Given the description of an element on the screen output the (x, y) to click on. 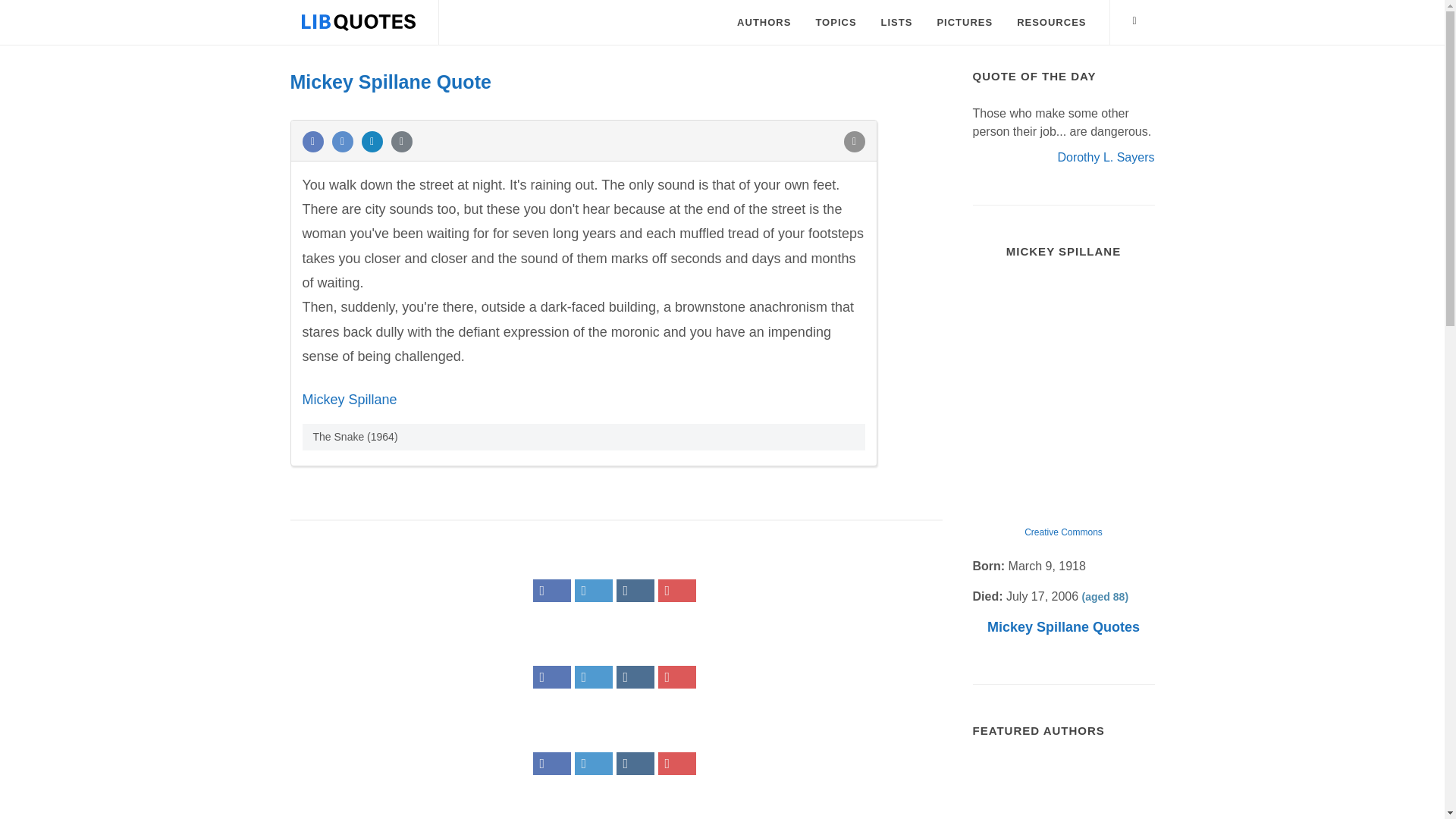
AUTHORS (763, 22)
Creative Commons (1063, 532)
Dorothy L. Sayers (1105, 155)
Victor Hugo (1063, 788)
LISTS (896, 22)
Mickey Spillane (348, 399)
Volodymyr Zelensky (1002, 788)
PICTURES (964, 22)
RESOURCES (1051, 22)
TOPICS (835, 22)
